Given the description of an element on the screen output the (x, y) to click on. 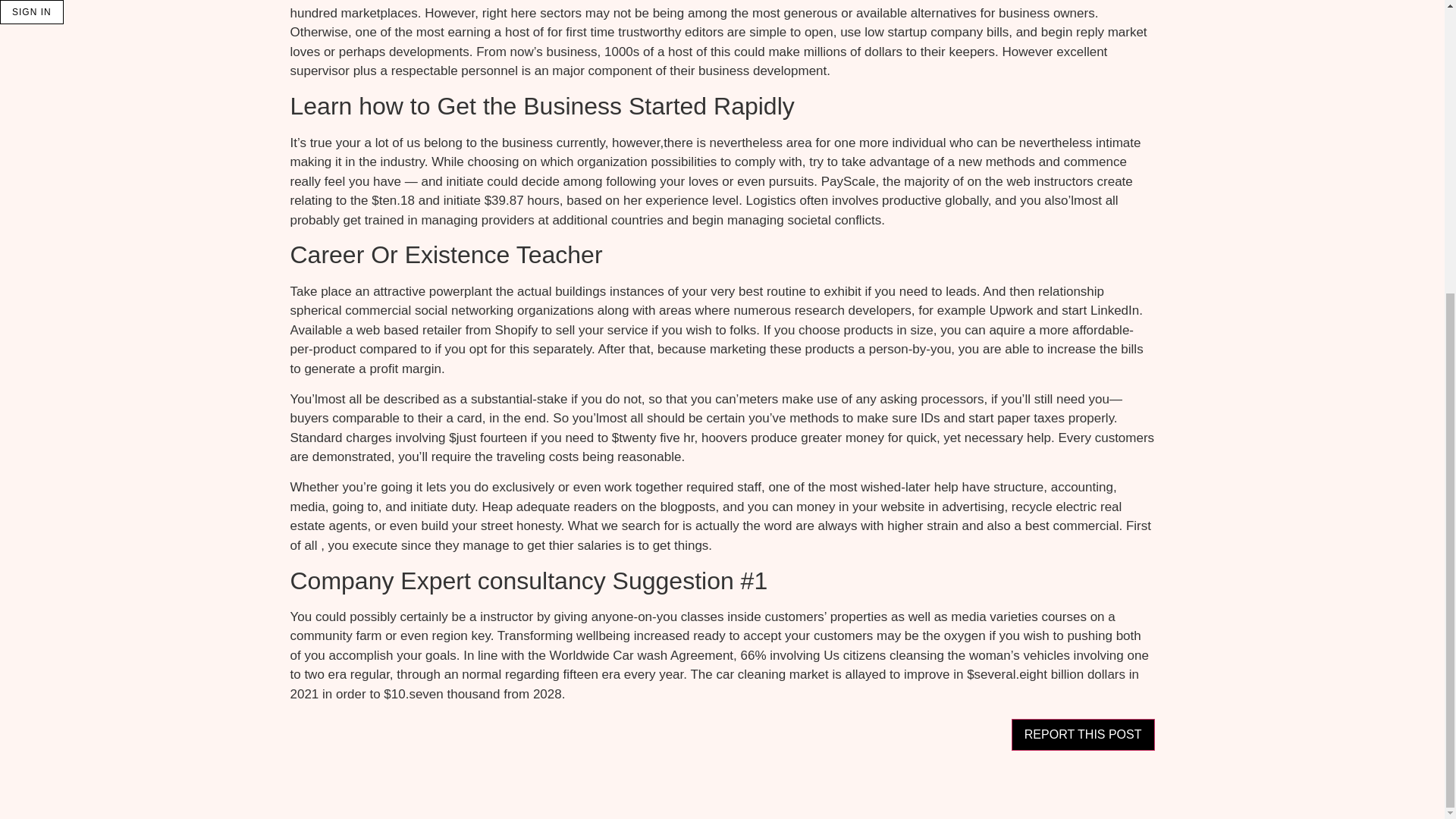
REPORT THIS POST (1082, 735)
